Given the description of an element on the screen output the (x, y) to click on. 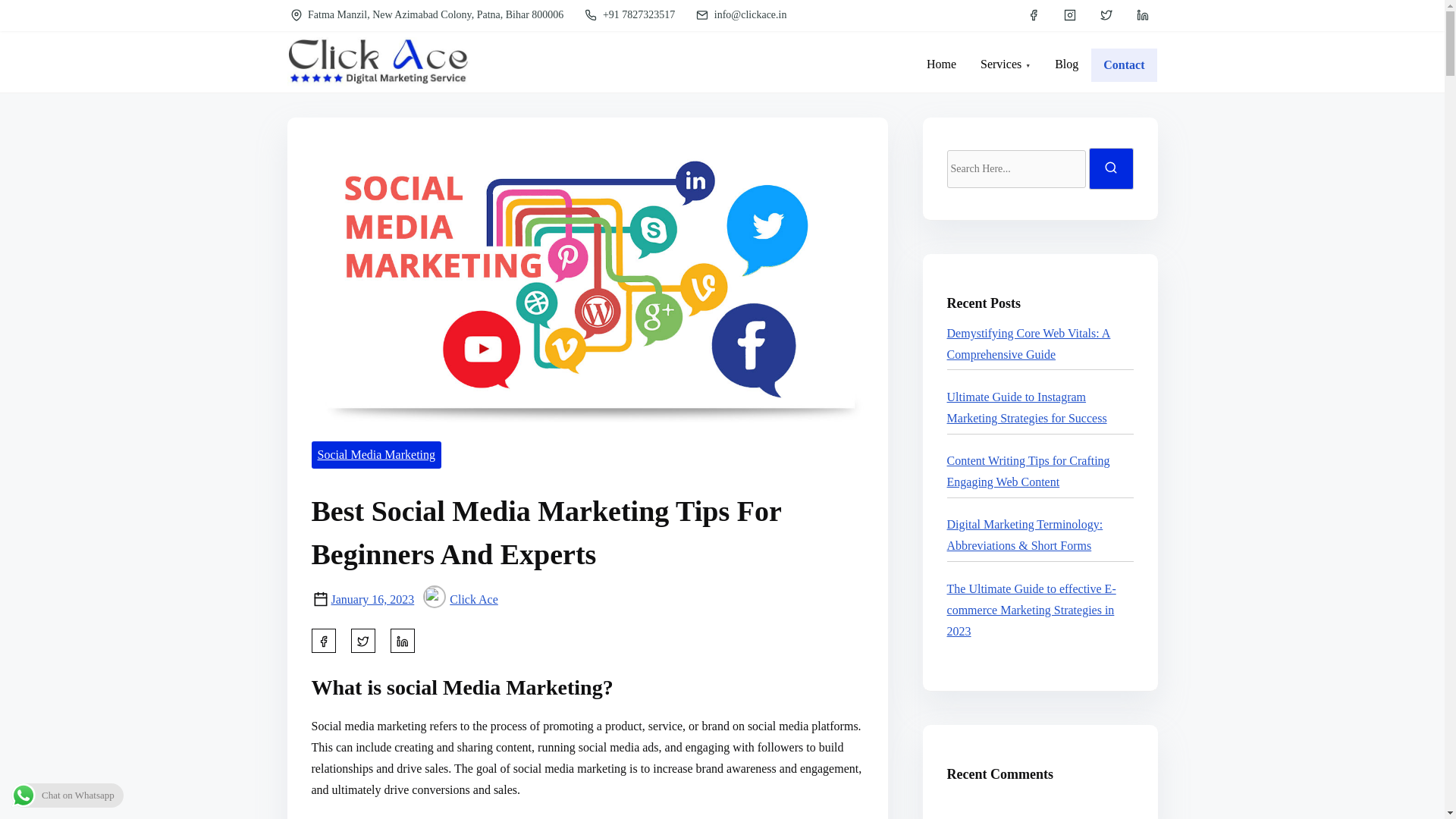
Share this post on Twitter (362, 640)
 Fatma Manzil, New Azimabad Colony, Patna, Bihar 800006 (427, 15)
Click Ace (460, 599)
Services (1005, 64)
Contact (1123, 64)
Social Media Marketing (376, 454)
Share this post on Facebook (322, 640)
January 16, 2023 (371, 599)
Home (941, 64)
Share this post on Linkedin (401, 640)
